Given the description of an element on the screen output the (x, y) to click on. 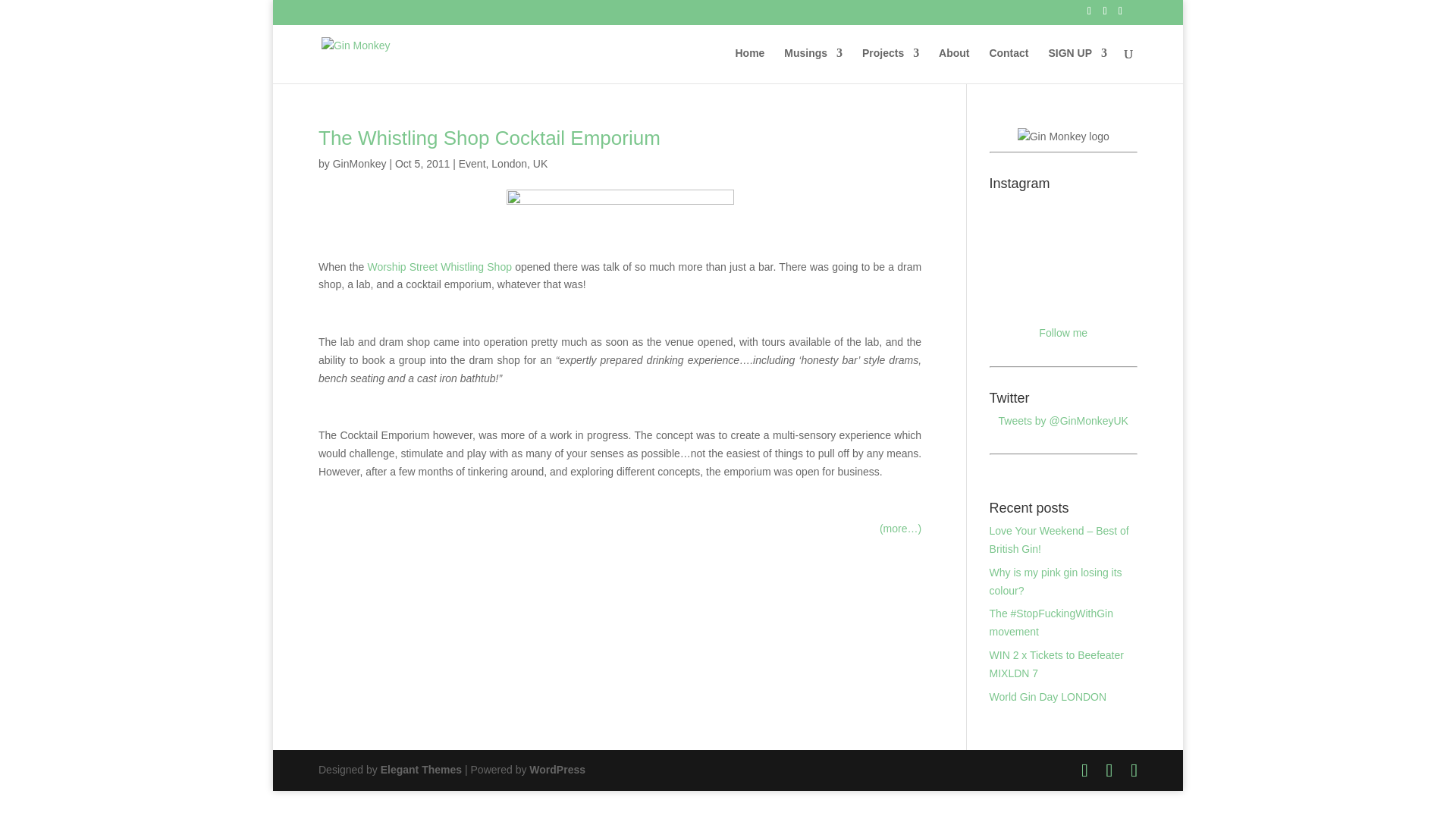
Contact (1007, 65)
Posts by GinMonkey (360, 163)
SIGN UP (1077, 65)
Musings (813, 65)
emporium (619, 204)
Premium WordPress Themes (420, 769)
Projects (889, 65)
